Given the description of an element on the screen output the (x, y) to click on. 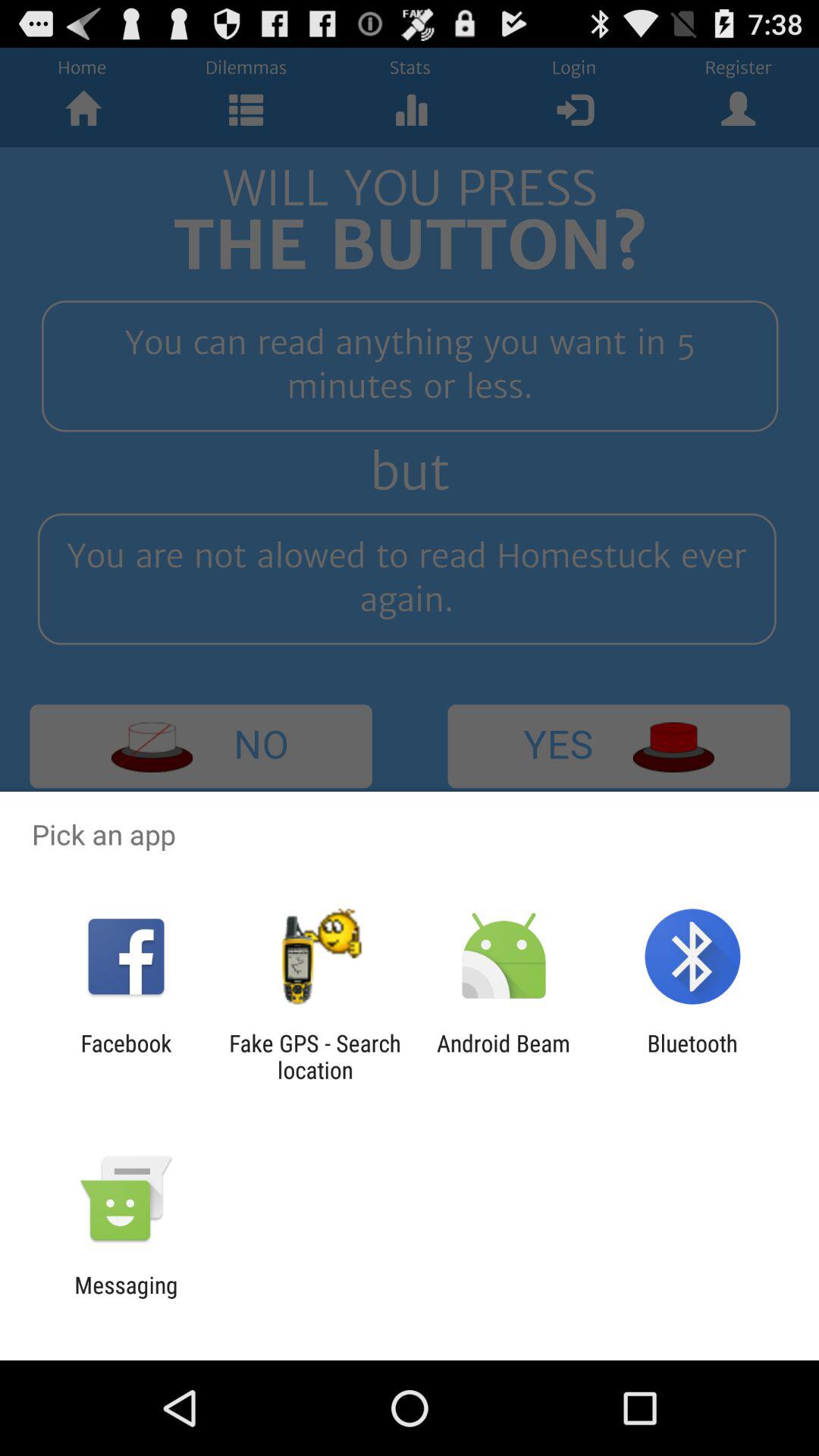
swipe to facebook item (125, 1056)
